Given the description of an element on the screen output the (x, y) to click on. 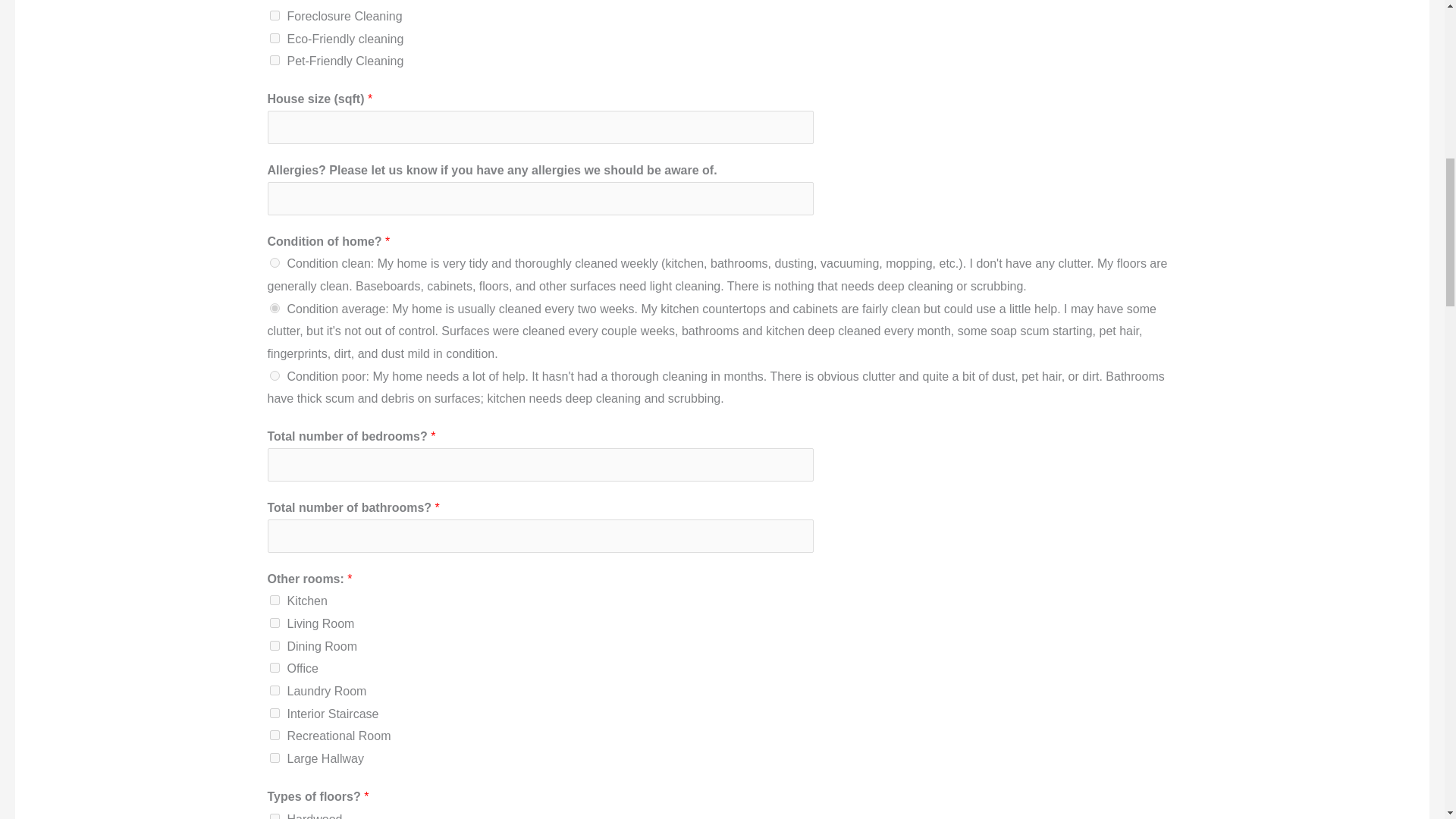
Pet-Friendly Cleaning (274, 60)
Foreclosure Cleaning (274, 15)
Eco-Friendly cleaning (274, 38)
